Given the description of an element on the screen output the (x, y) to click on. 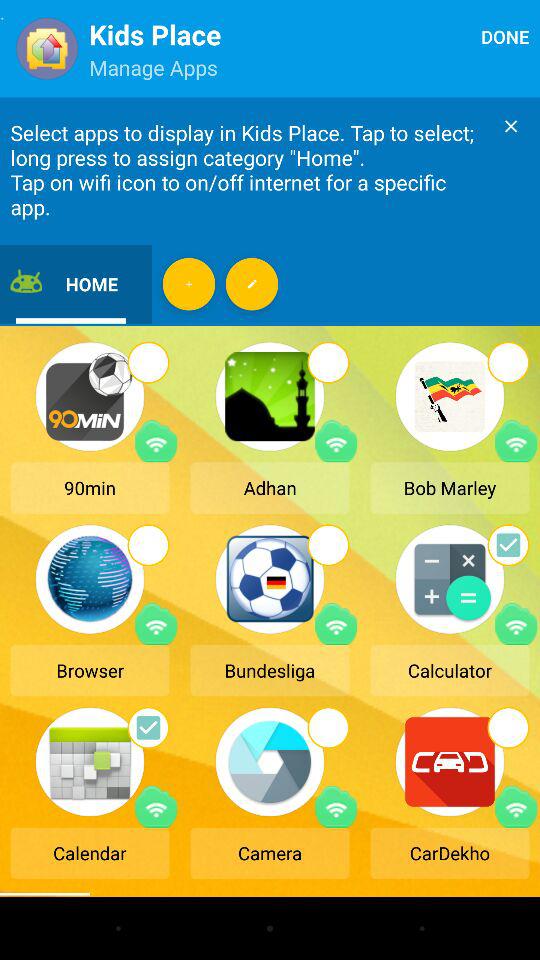
wireless (336, 624)
